Given the description of an element on the screen output the (x, y) to click on. 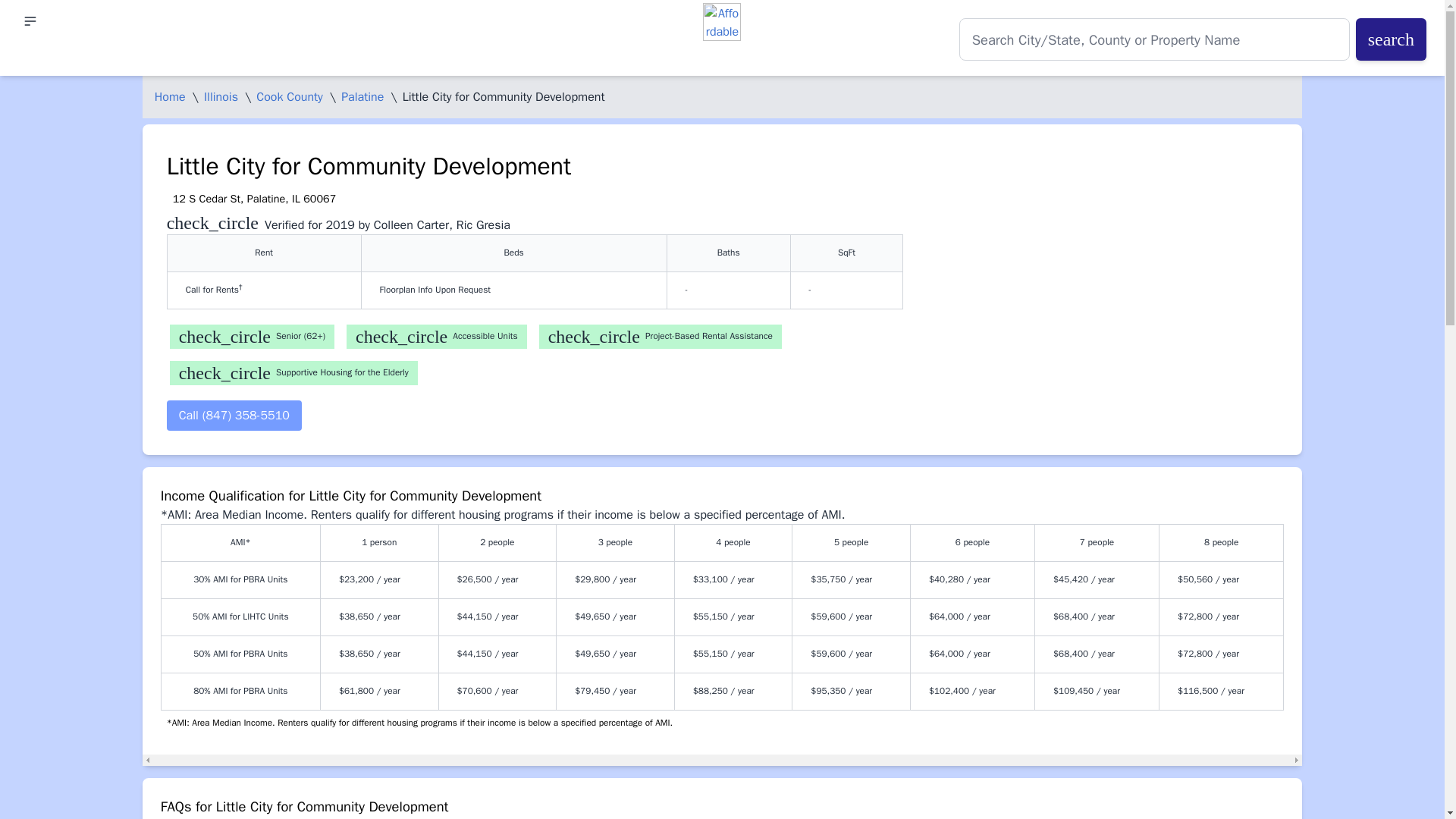
Palatine (362, 96)
search (1390, 39)
Illinois (220, 96)
Home (170, 96)
Cook County (289, 96)
